Given the description of an element on the screen output the (x, y) to click on. 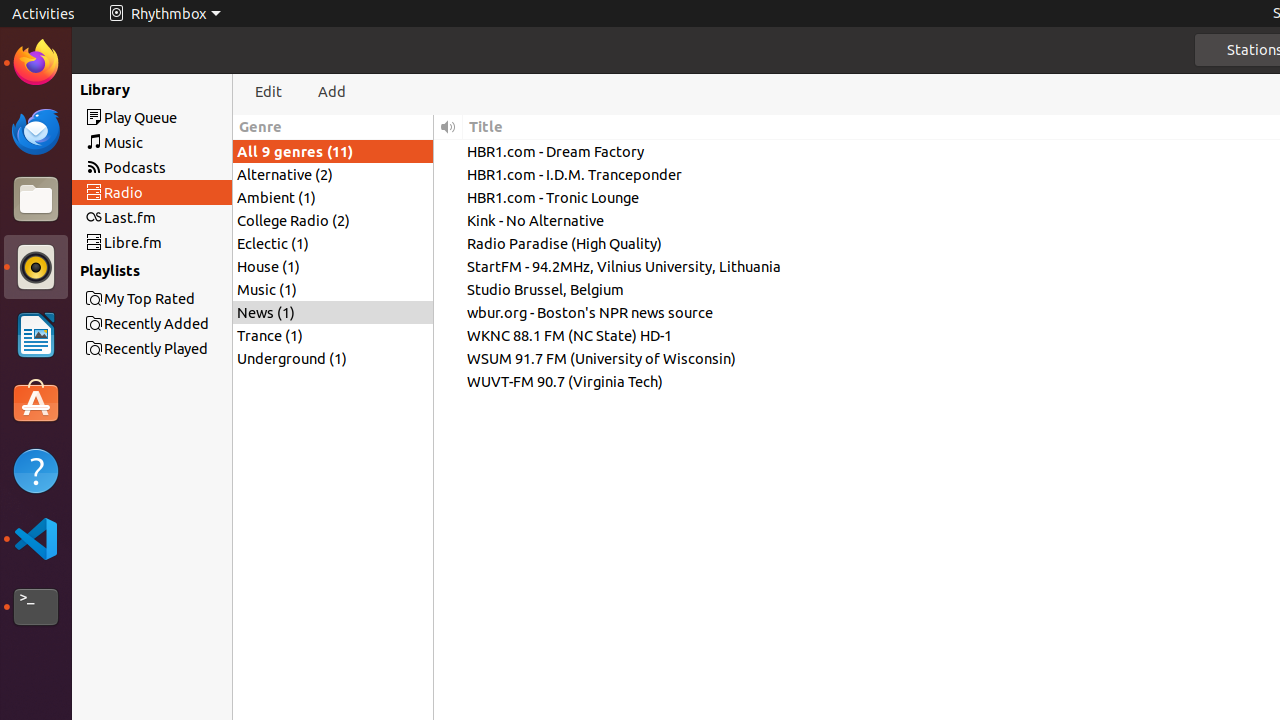
Last.fm Element type: table-cell (188, 217)
Music Element type: table-cell (188, 142)
College Radio (2) Element type: table-cell (333, 220)
IsaHelpMain.desktop Element type: label (133, 300)
Recently Added Element type: table-cell (188, 323)
